Given the description of an element on the screen output the (x, y) to click on. 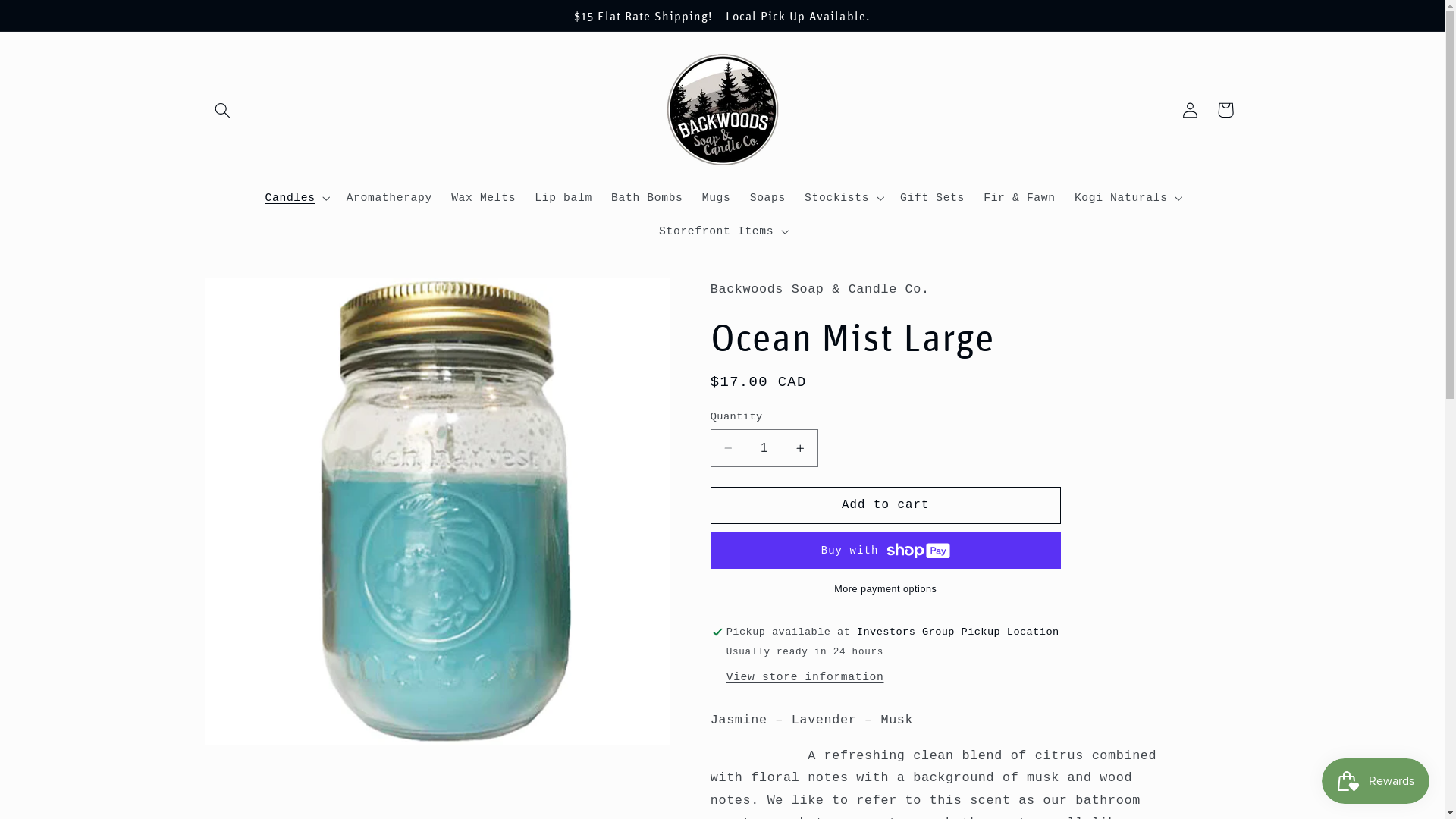
View store information Element type: text (805, 677)
Bath Bombs Element type: text (646, 197)
Cart Element type: text (1225, 109)
Lip balm Element type: text (563, 197)
Mugs Element type: text (716, 197)
Increase quantity for Ocean Mist Large Element type: text (800, 447)
Skip to product information Element type: text (252, 295)
Wax Melts Element type: text (483, 197)
Decrease quantity for Ocean Mist Large Element type: text (728, 447)
Log in Element type: text (1190, 109)
Smile.io Rewards Program Launcher Element type: hover (1375, 780)
Gift Sets Element type: text (931, 197)
Soaps Element type: text (767, 197)
Fir & Fawn Element type: text (1019, 197)
Add to cart Element type: text (885, 505)
Aromatherapy Element type: text (389, 197)
More payment options Element type: text (885, 589)
